Given the description of an element on the screen output the (x, y) to click on. 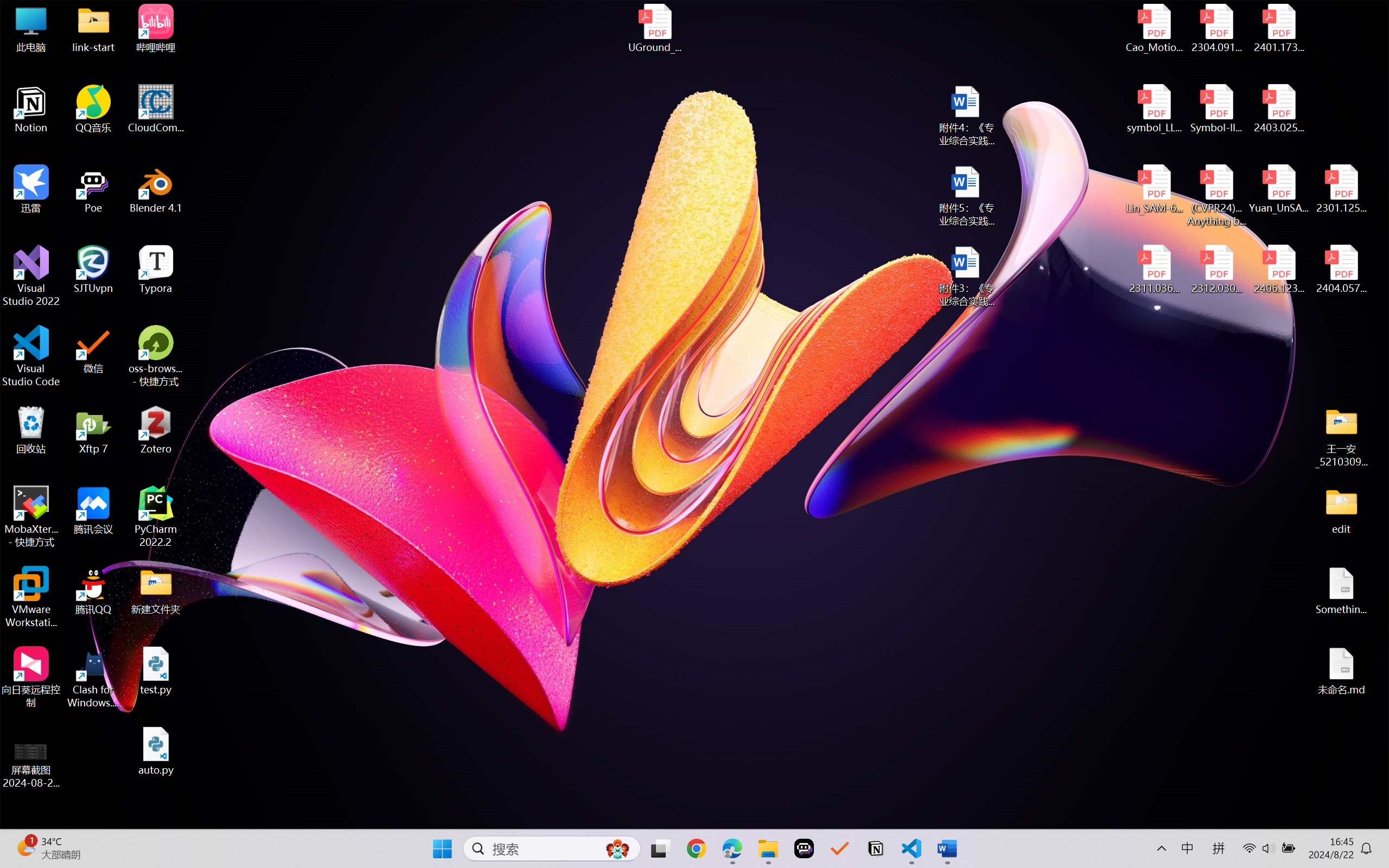
2401.17399v1.pdf (1278, 28)
2304.09121v3.pdf (1216, 28)
Symbol-llm-v2.pdf (1216, 109)
Blender 4.1 (156, 189)
2311.03658v2.pdf (1154, 269)
Google Chrome (696, 848)
2403.02502v1.pdf (1278, 109)
